Given the description of an element on the screen output the (x, y) to click on. 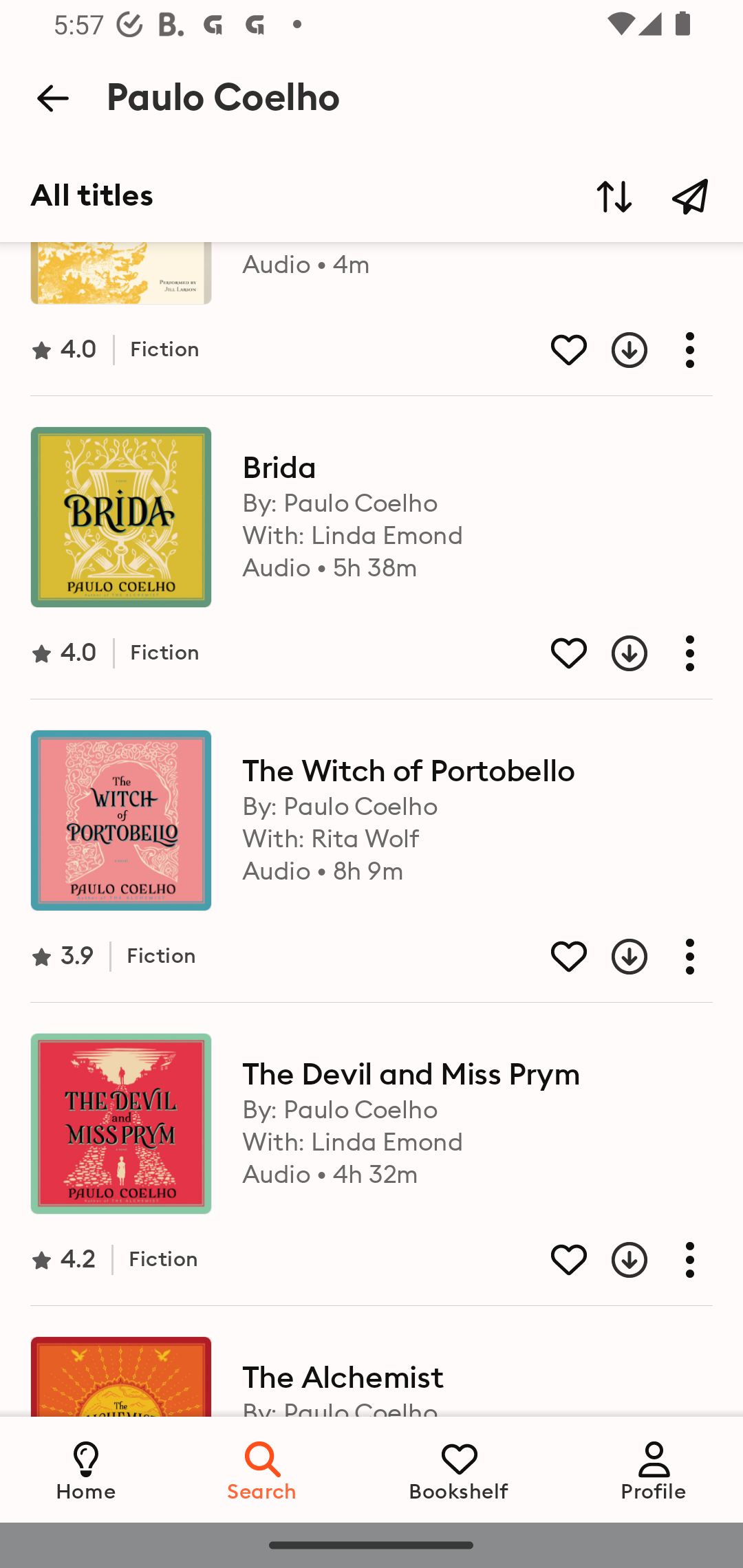
Back (52, 98)
Download (613, 349)
Download (613, 653)
Download (613, 956)
Download (613, 1259)
Home (85, 1468)
Search (262, 1468)
Bookshelf (458, 1468)
Profile (653, 1468)
